Given the description of an element on the screen output the (x, y) to click on. 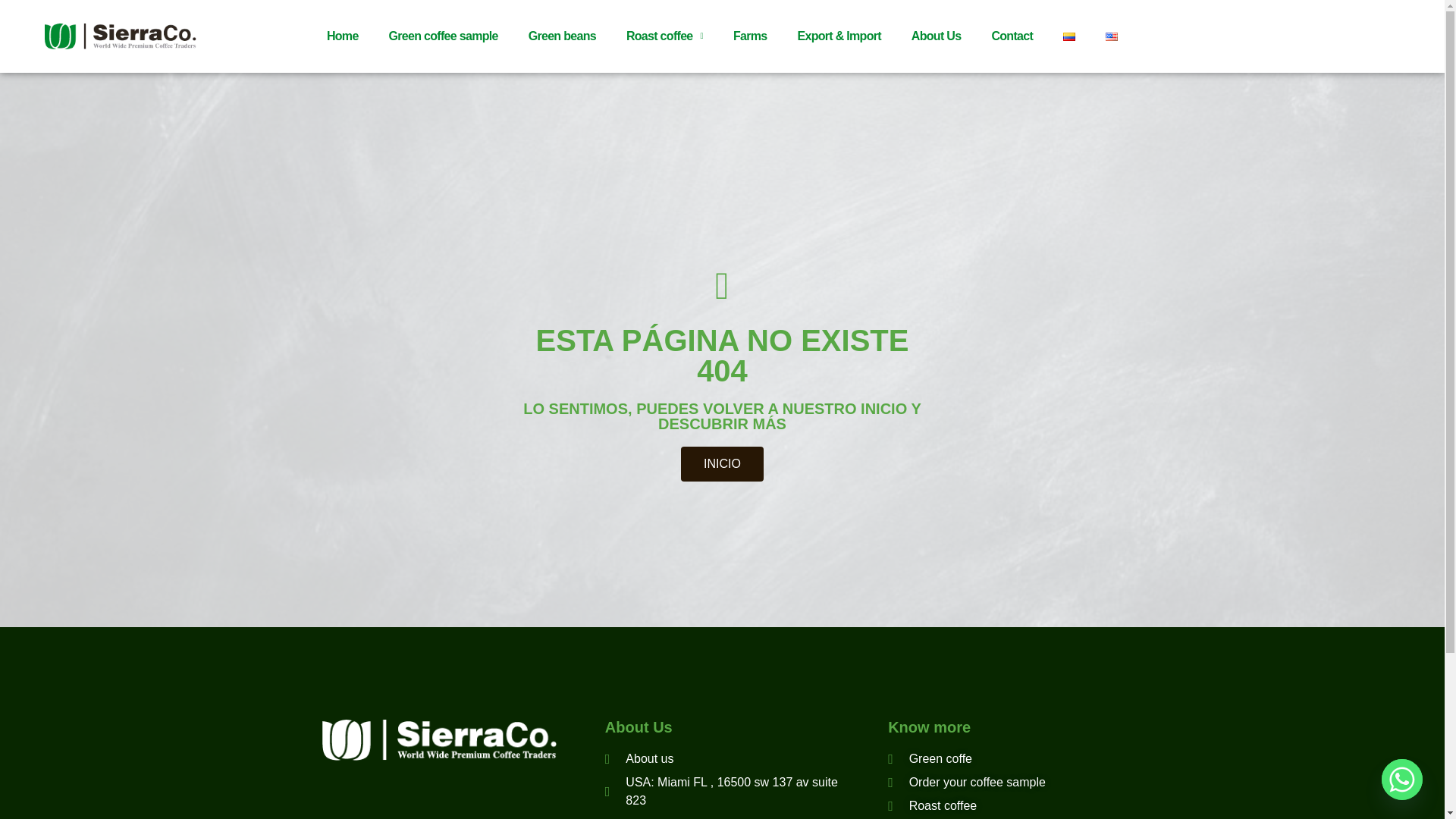
Order your coffee sample (966, 782)
About us (722, 759)
Green coffe (930, 759)
Green beans (562, 36)
About Us (936, 36)
Home (342, 36)
Contact (1011, 36)
Roast coffee (664, 36)
logobig3 (438, 739)
Farms (750, 36)
